Given the description of an element on the screen output the (x, y) to click on. 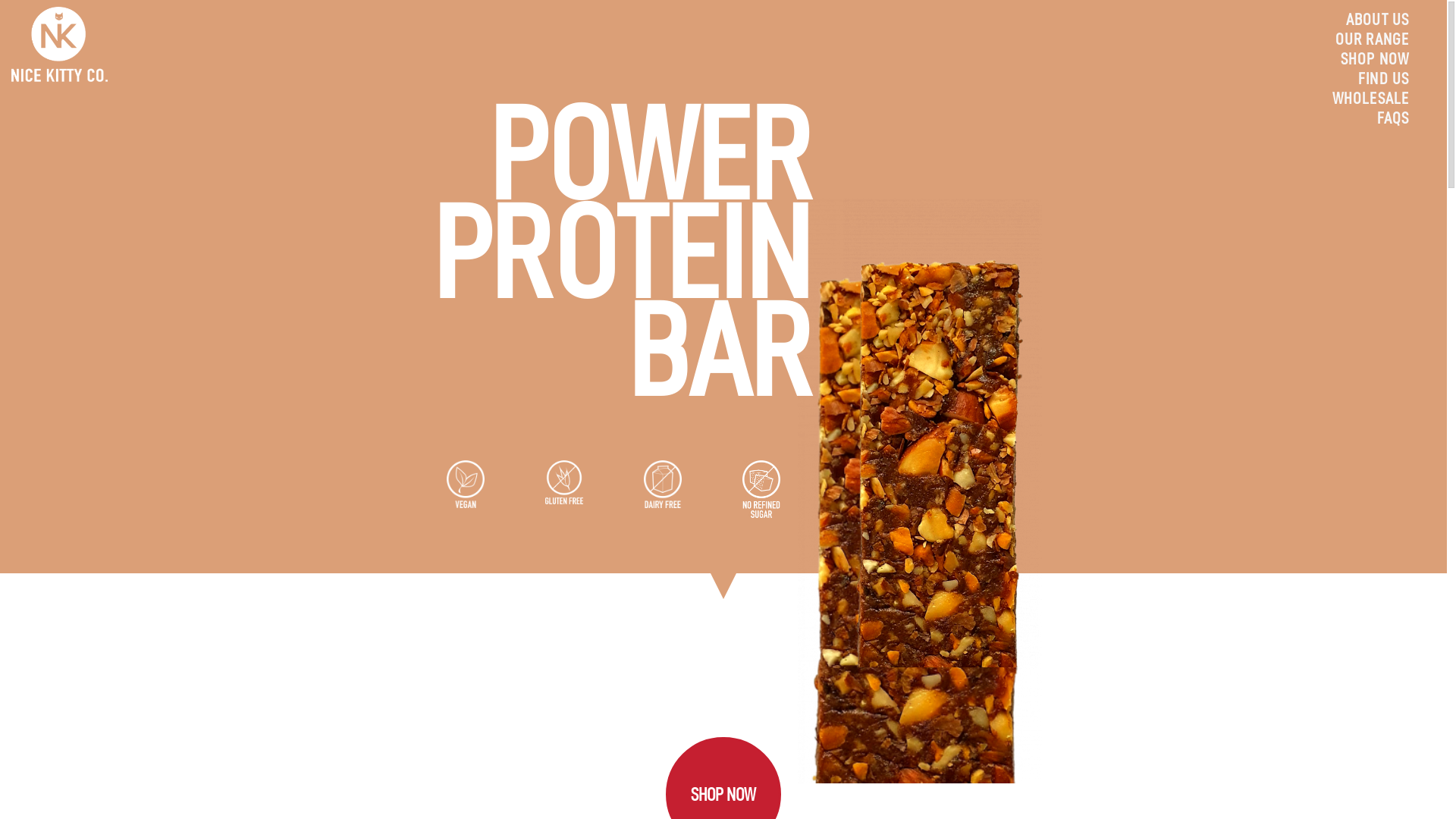
FAQS Element type: text (1392, 117)
WHOLESALE Element type: text (1370, 98)
protein power bar (2) Element type: hover (929, 432)
FIND US Element type: text (1383, 78)
SHOP NOW Element type: text (1374, 58)
ABOUT US Element type: text (1377, 19)
OUR RANGE Element type: text (1371, 39)
